Given the description of an element on the screen output the (x, y) to click on. 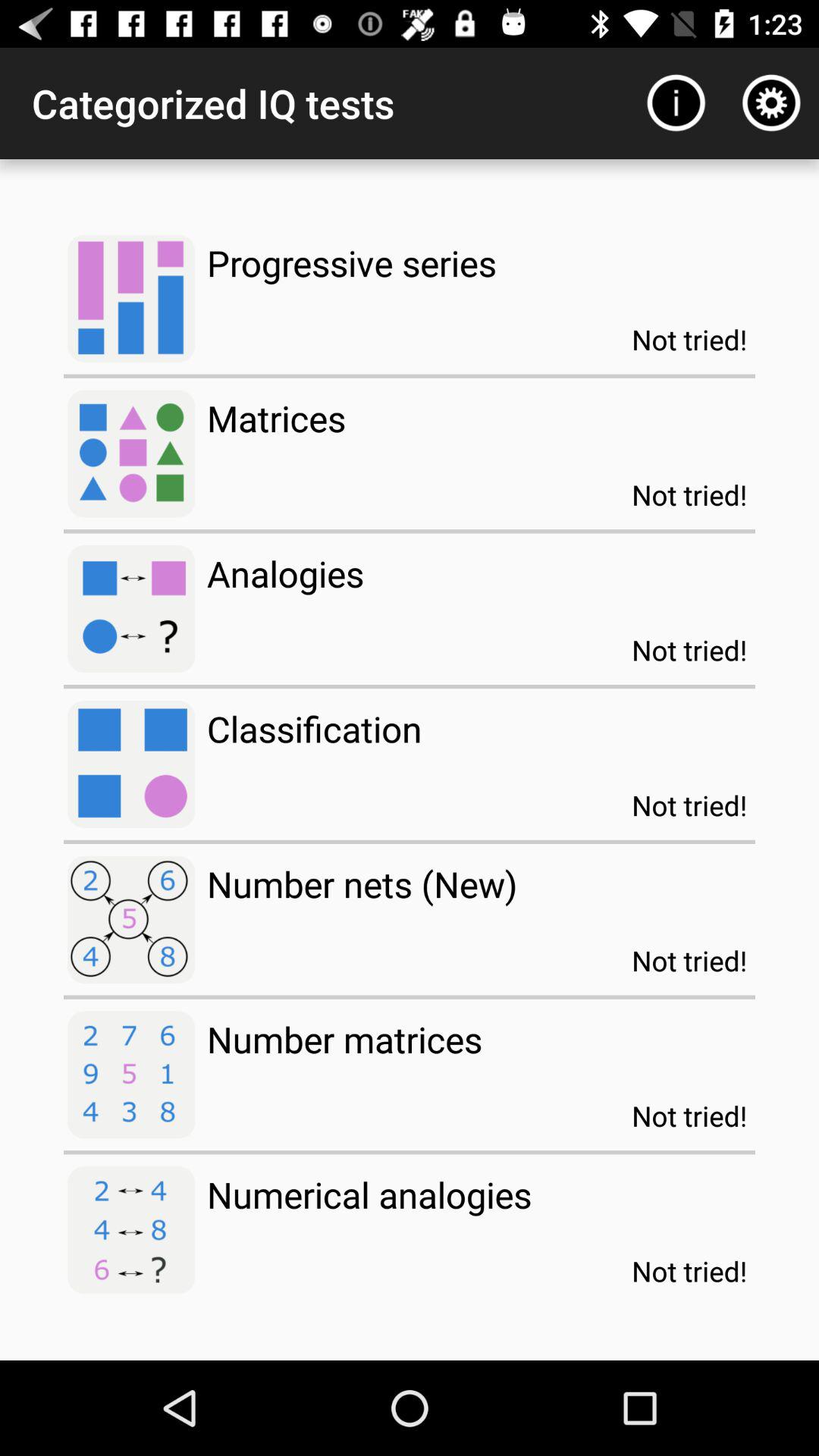
flip to the number nets (new) app (362, 883)
